Given the description of an element on the screen output the (x, y) to click on. 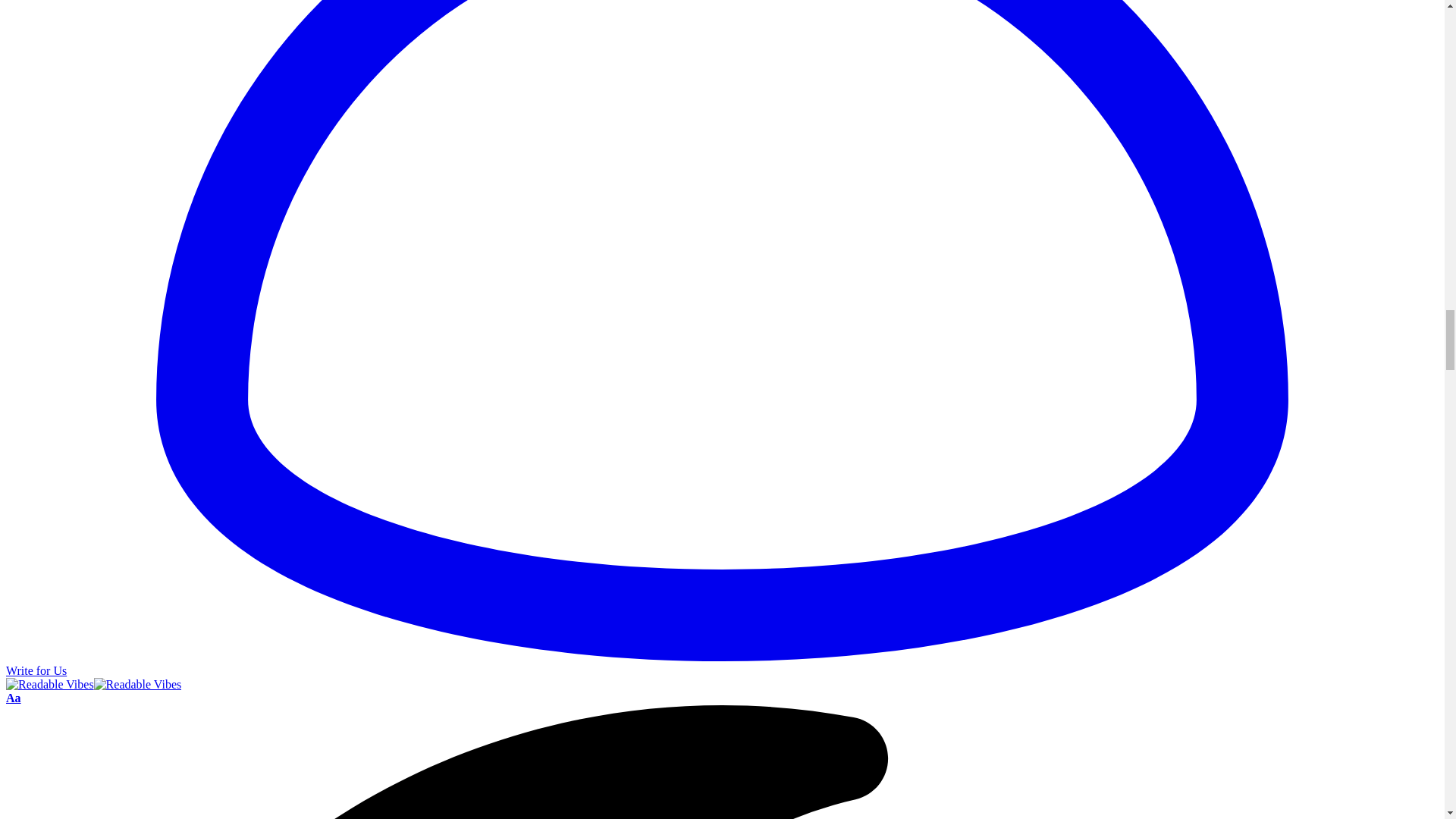
Aa (13, 697)
Write for Us (35, 670)
Readable Vibes (92, 684)
